Given the description of an element on the screen output the (x, y) to click on. 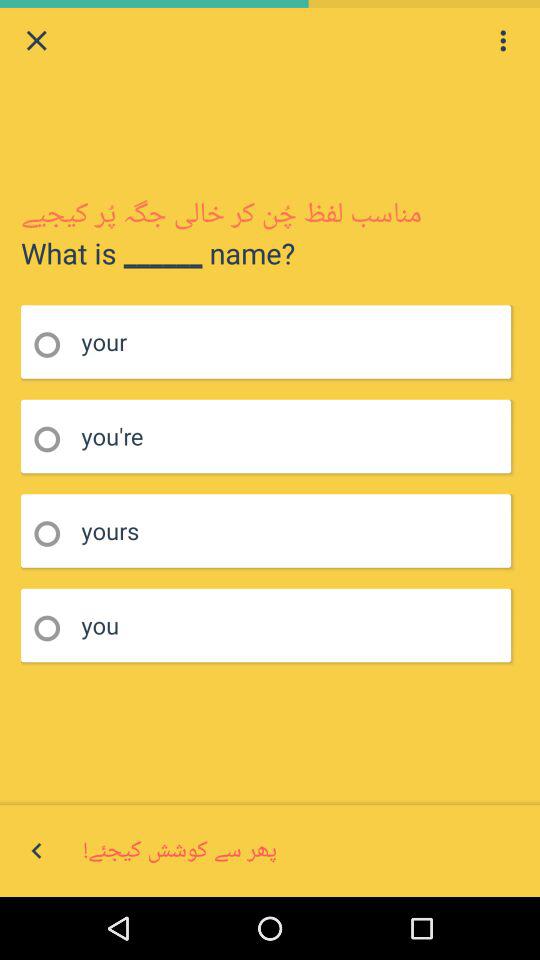
select the option (53, 439)
